Given the description of an element on the screen output the (x, y) to click on. 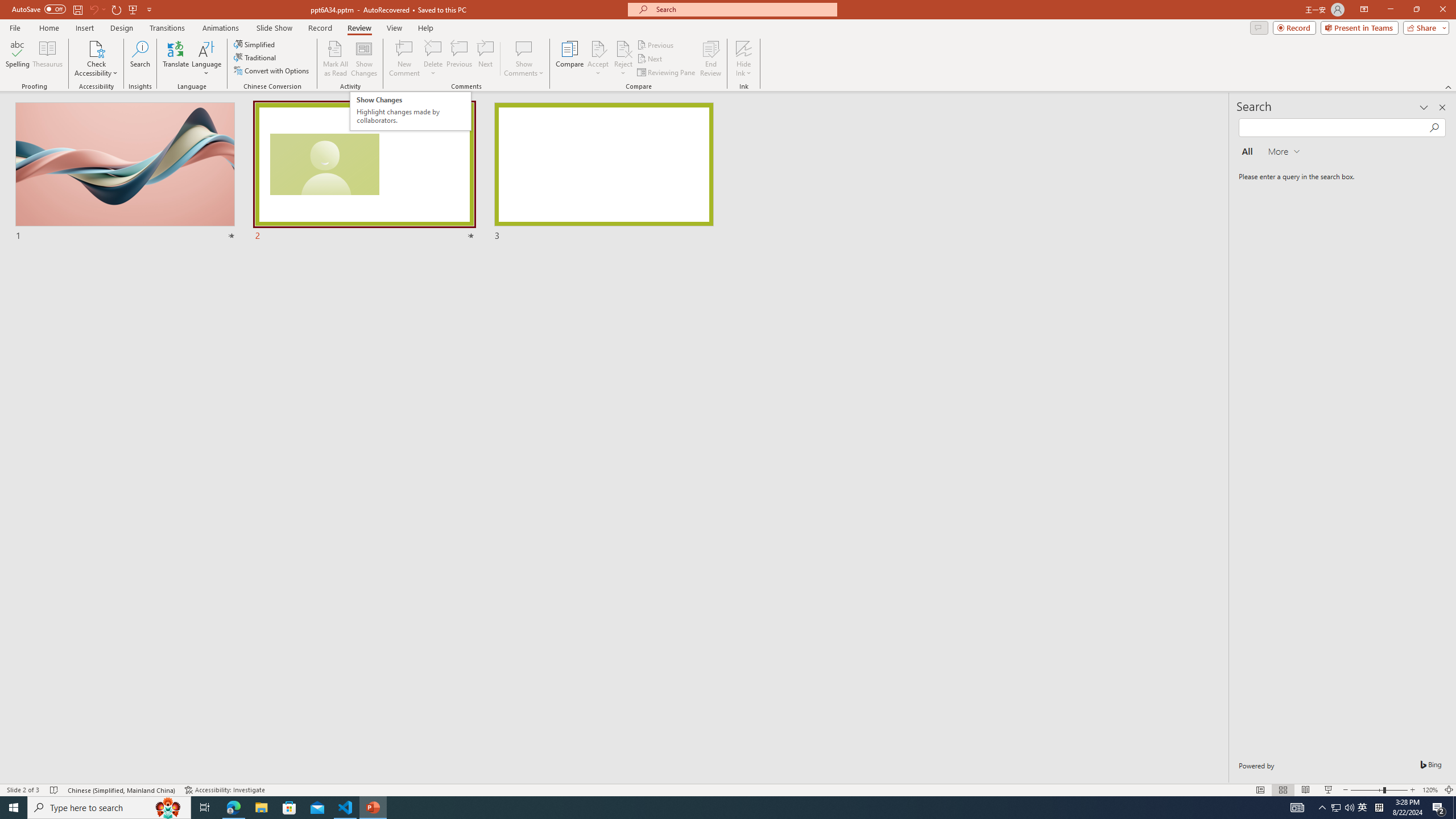
Zoom 120% (1430, 790)
